Given the description of an element on the screen output the (x, y) to click on. 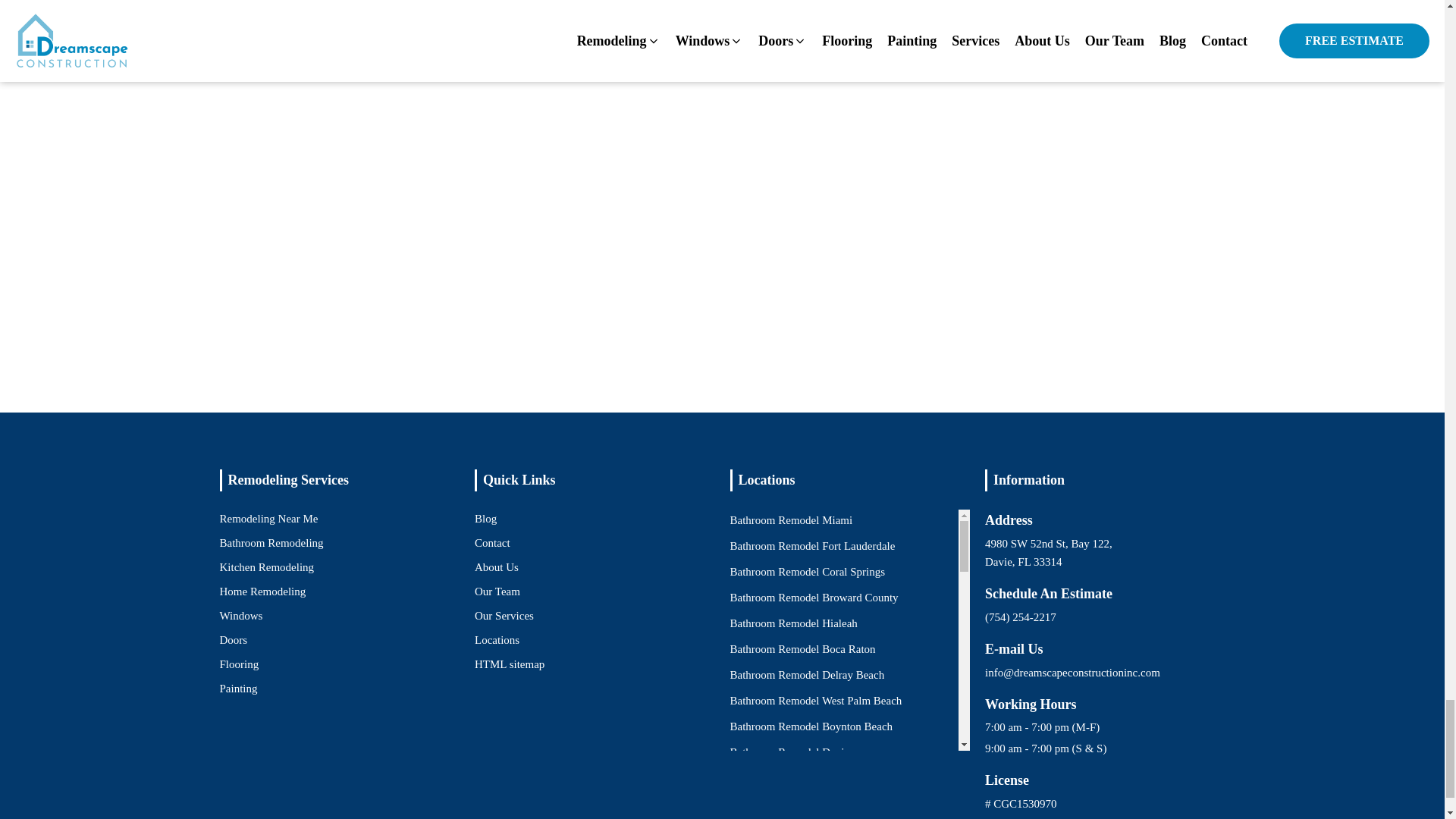
Home Remodeling (262, 591)
Blog (485, 518)
Flooring (239, 664)
Contact (492, 542)
About Us (496, 566)
Painting (238, 688)
Remodeling Near Me (268, 518)
Windows (241, 615)
Doors (233, 639)
Kitchen Remodeling (266, 566)
Bathroom Remodeling (271, 542)
